Given the description of an element on the screen output the (x, y) to click on. 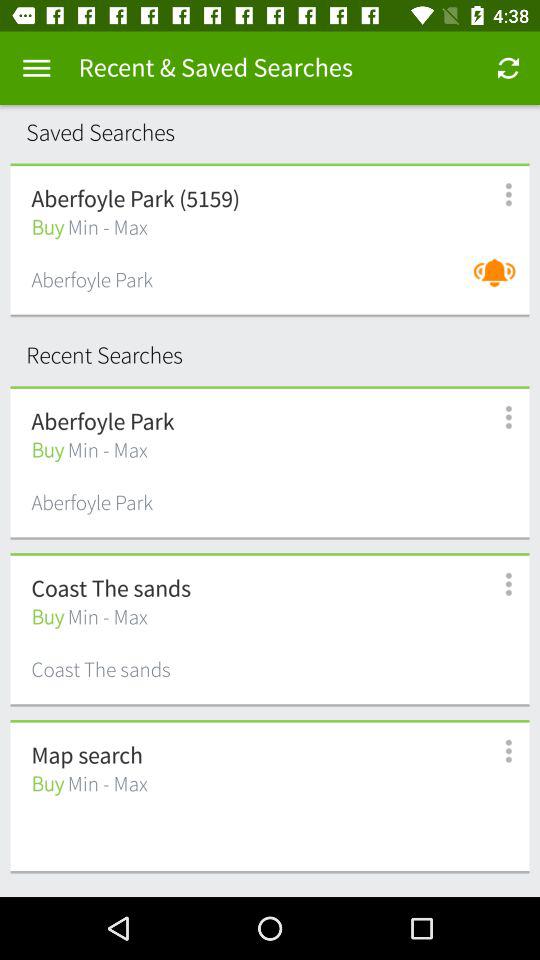
tap the item above saved searches (36, 68)
